Given the description of an element on the screen output the (x, y) to click on. 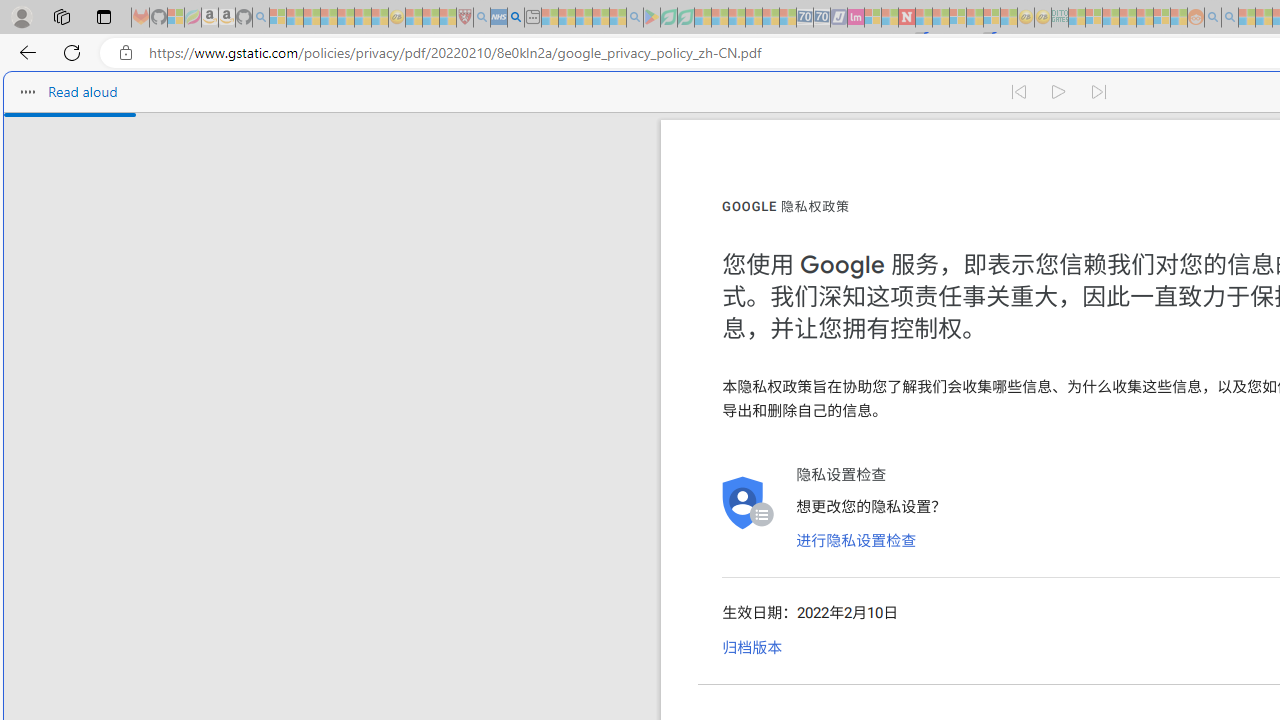
Continue to read aloud (Ctrl+Shift+U) (1059, 92)
